Given the description of an element on the screen output the (x, y) to click on. 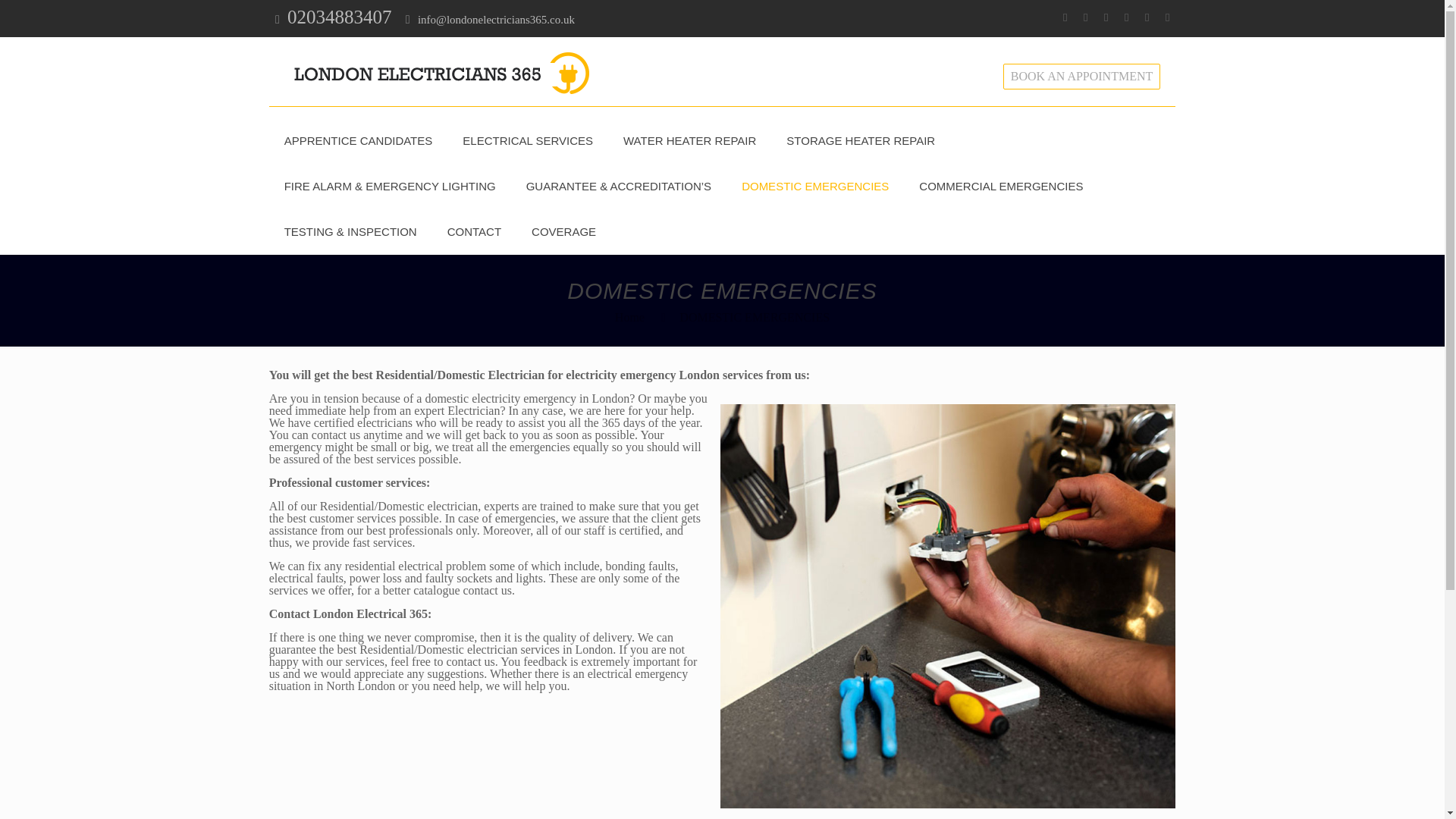
Twitter (1105, 17)
STORAGE HEATER REPAIR (860, 140)
Home (629, 317)
BOOK AN APPOINTMENT (1081, 76)
Facebook (1065, 17)
APPRENTICE CANDIDATES (358, 140)
DOMESTIC EMERGENCIES (815, 186)
London Electricians 365 (441, 71)
ELECTRICAL SERVICES (527, 140)
02034883407 (338, 16)
YouTube (1146, 17)
CONTACT (474, 231)
Vimeo (1126, 17)
COMMERCIAL EMERGENCIES (1000, 186)
WATER HEATER REPAIR (689, 140)
